Given the description of an element on the screen output the (x, y) to click on. 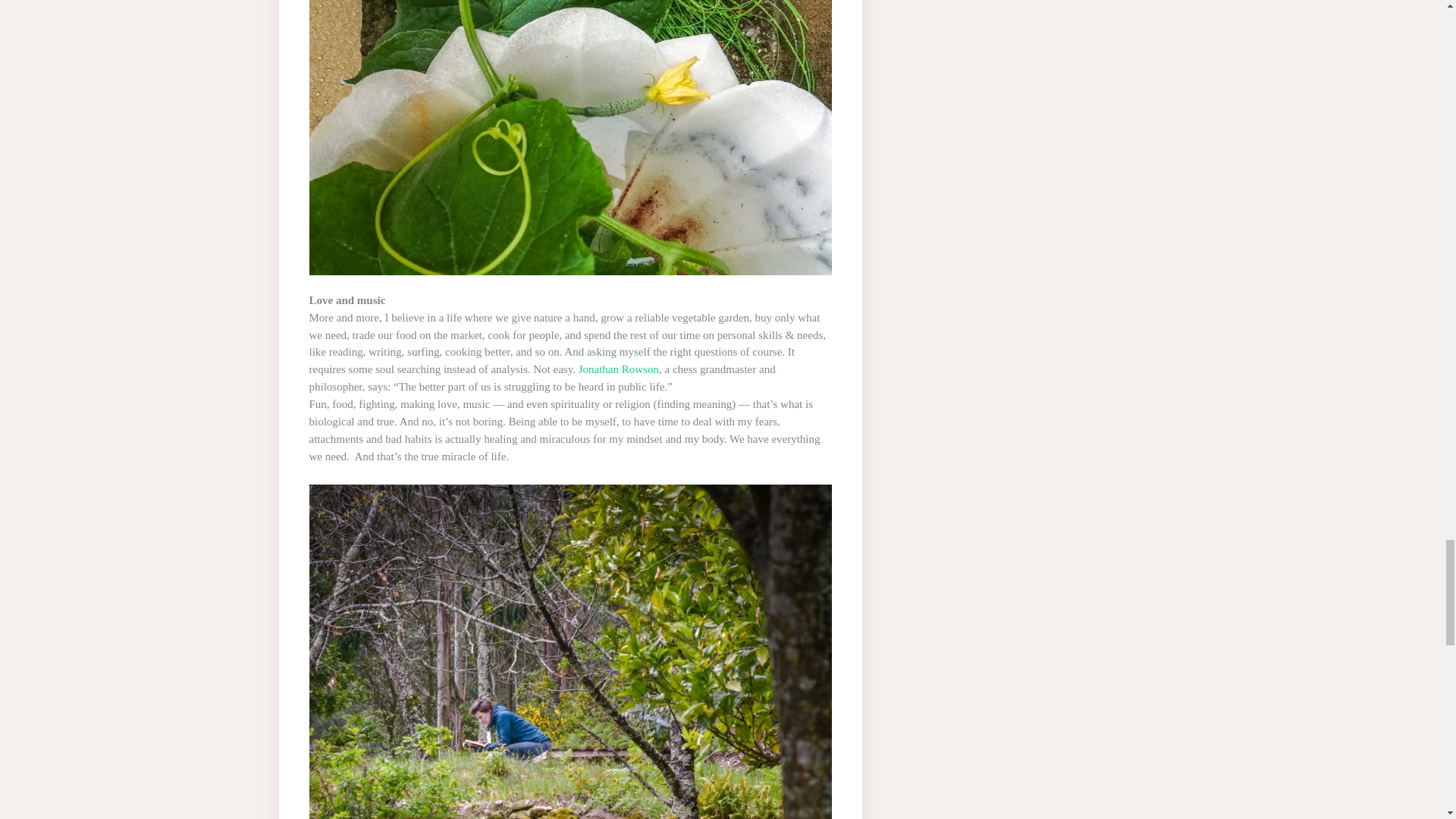
Jonathan Rowson (617, 369)
